Given the description of an element on the screen output the (x, y) to click on. 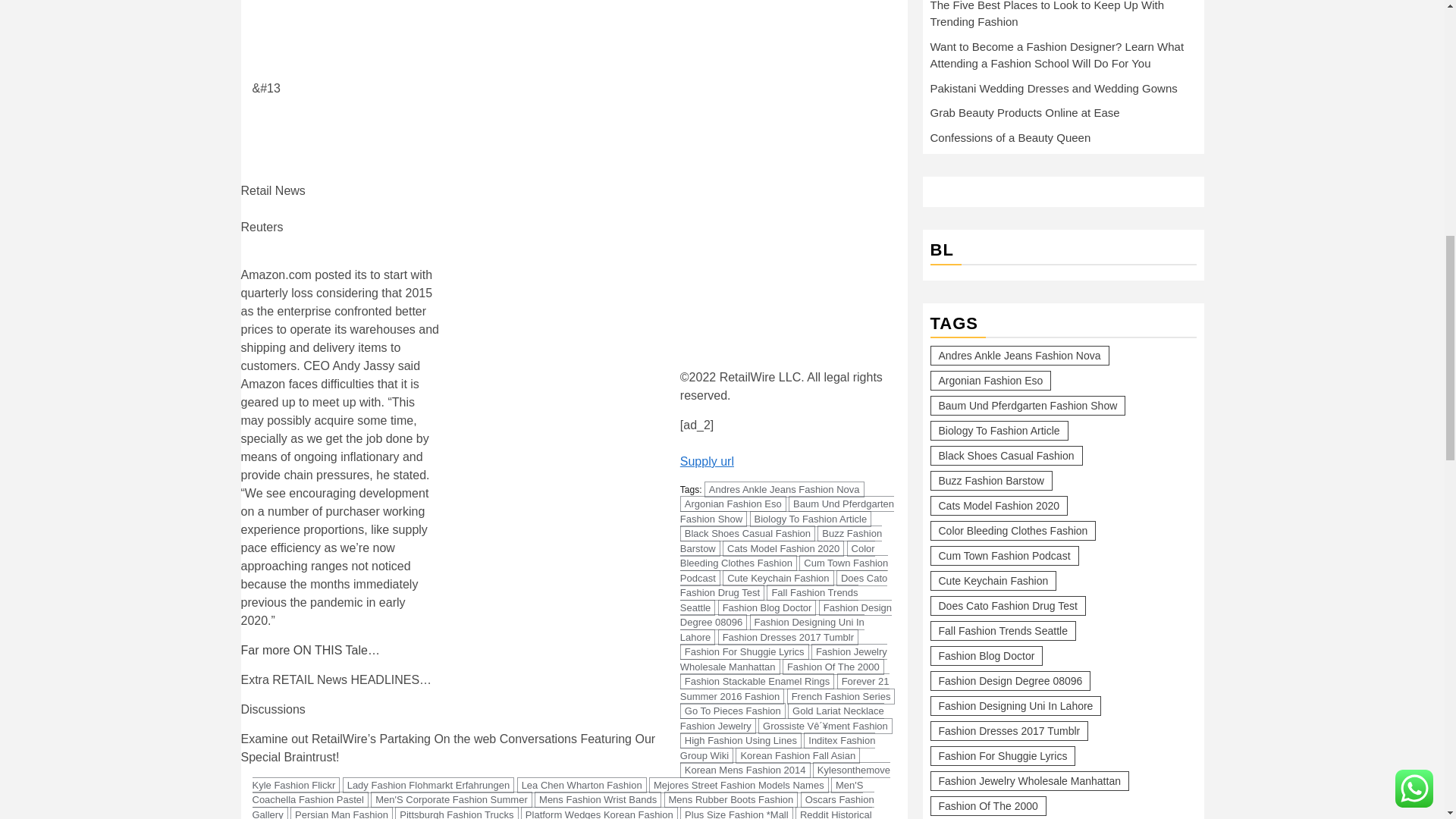
Fashion Design Degree 08096 (785, 614)
Biology To Fashion Article (810, 519)
Cats Model Fashion 2020 (783, 548)
Does Cato Fashion Drug Test (783, 585)
Cute Keychain Fashion (777, 578)
Color Bleeding Clothes Fashion (777, 555)
Argonian Fashion Eso (732, 503)
Fashion Blog Doctor (766, 607)
Baum Und Pferdgarten Fashion Show (786, 511)
Cum Town Fashion Podcast (783, 570)
Andres Ankle Jeans Fashion Nova (784, 489)
Supply url (706, 461)
Black Shoes Casual Fashion (747, 533)
Fall Fashion Trends Seattle (769, 599)
Buzz Fashion Barstow (780, 540)
